Given the description of an element on the screen output the (x, y) to click on. 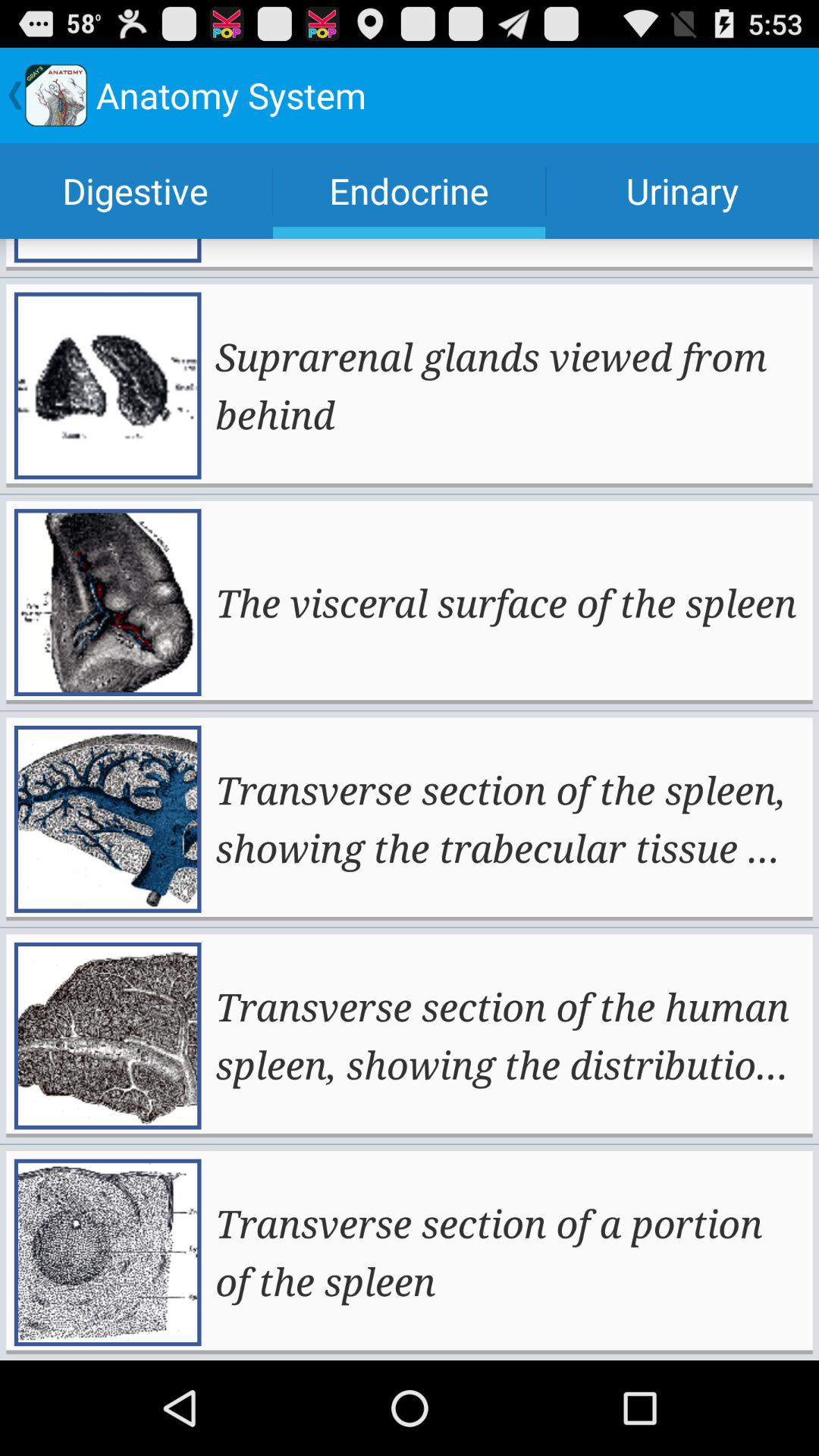
select suprarenal glands viewed icon (507, 385)
